Given the description of an element on the screen output the (x, y) to click on. 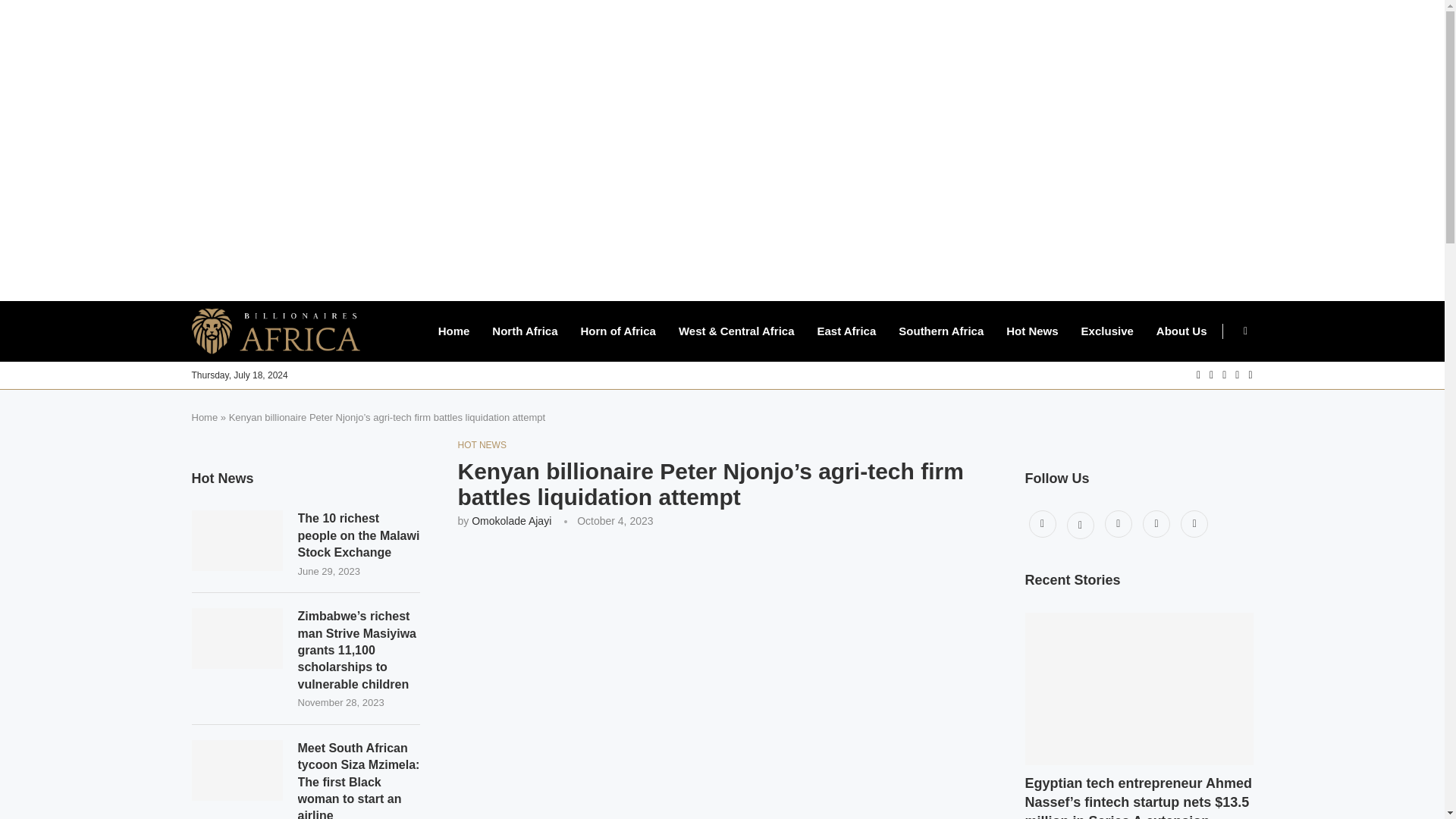
Exclusive (1107, 330)
Home (454, 330)
About Us (1181, 330)
North Africa (524, 330)
Southern Africa (941, 330)
Hot News (1032, 330)
Horn of Africa (617, 330)
East Africa (846, 330)
